Given the description of an element on the screen output the (x, y) to click on. 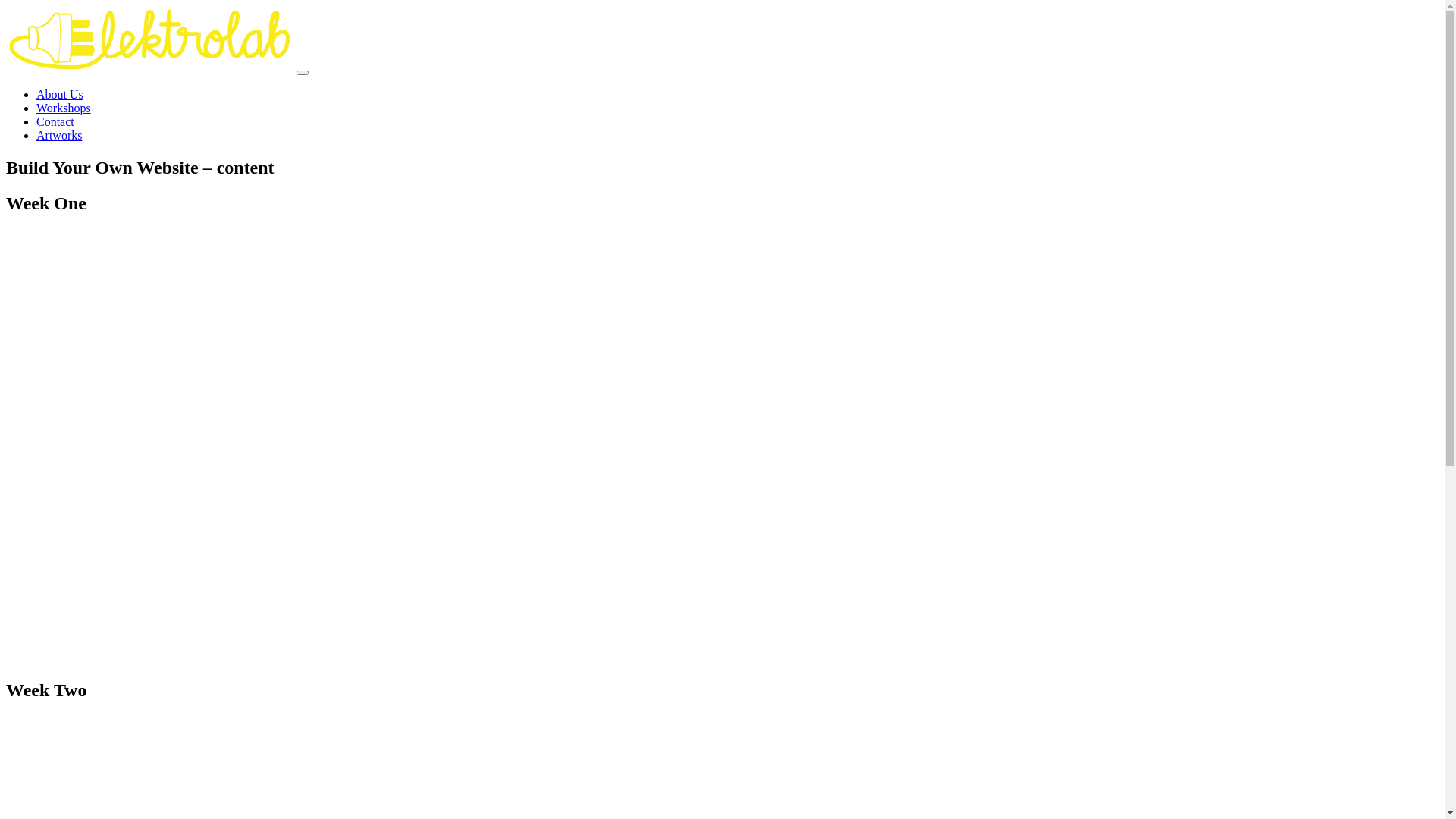
Contact Element type: text (55, 121)
Artworks Element type: text (58, 134)
Workshops Element type: text (63, 107)
About Us Element type: text (59, 93)
